Given the description of an element on the screen output the (x, y) to click on. 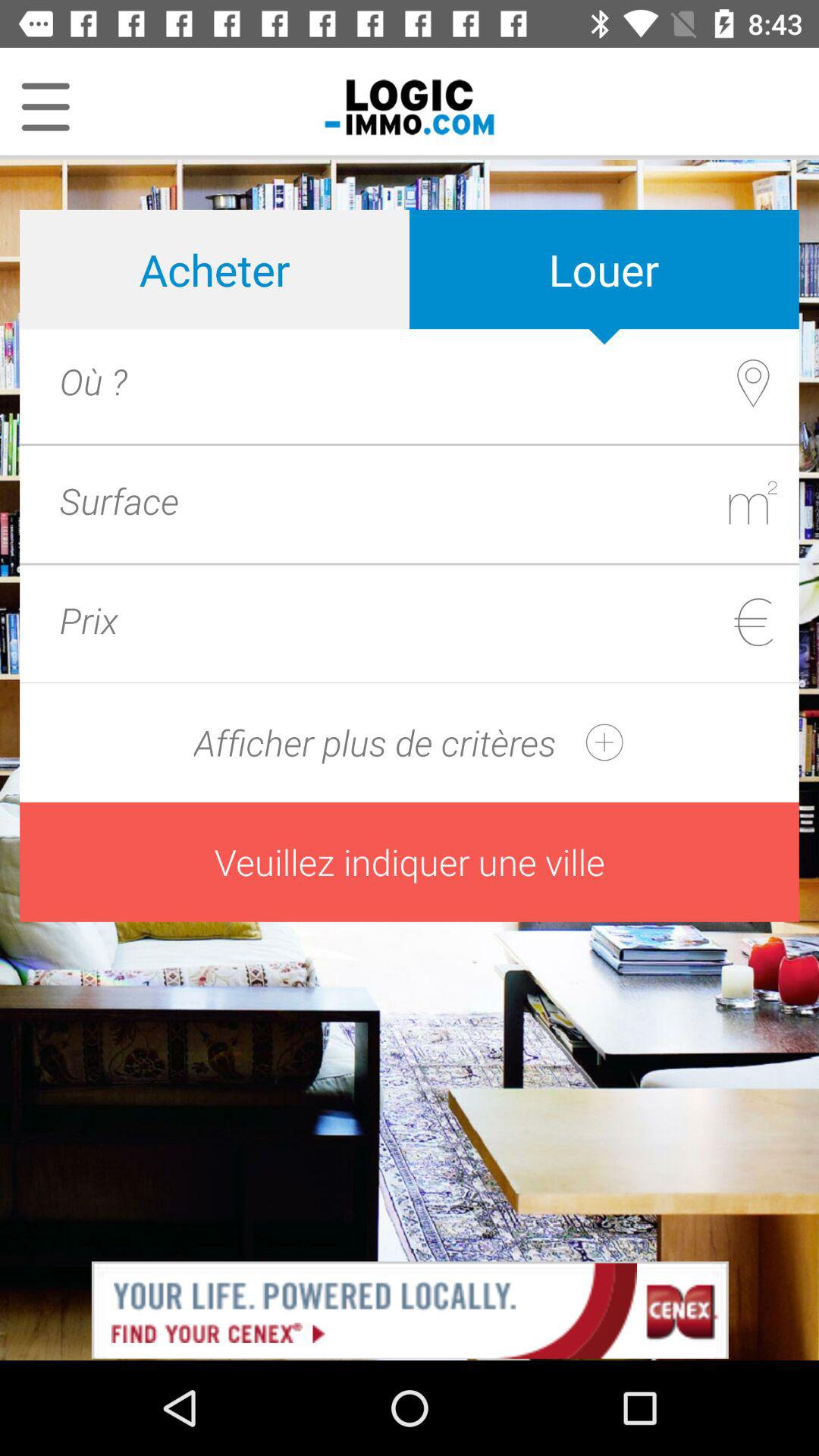
textbox option (467, 500)
